Given the description of an element on the screen output the (x, y) to click on. 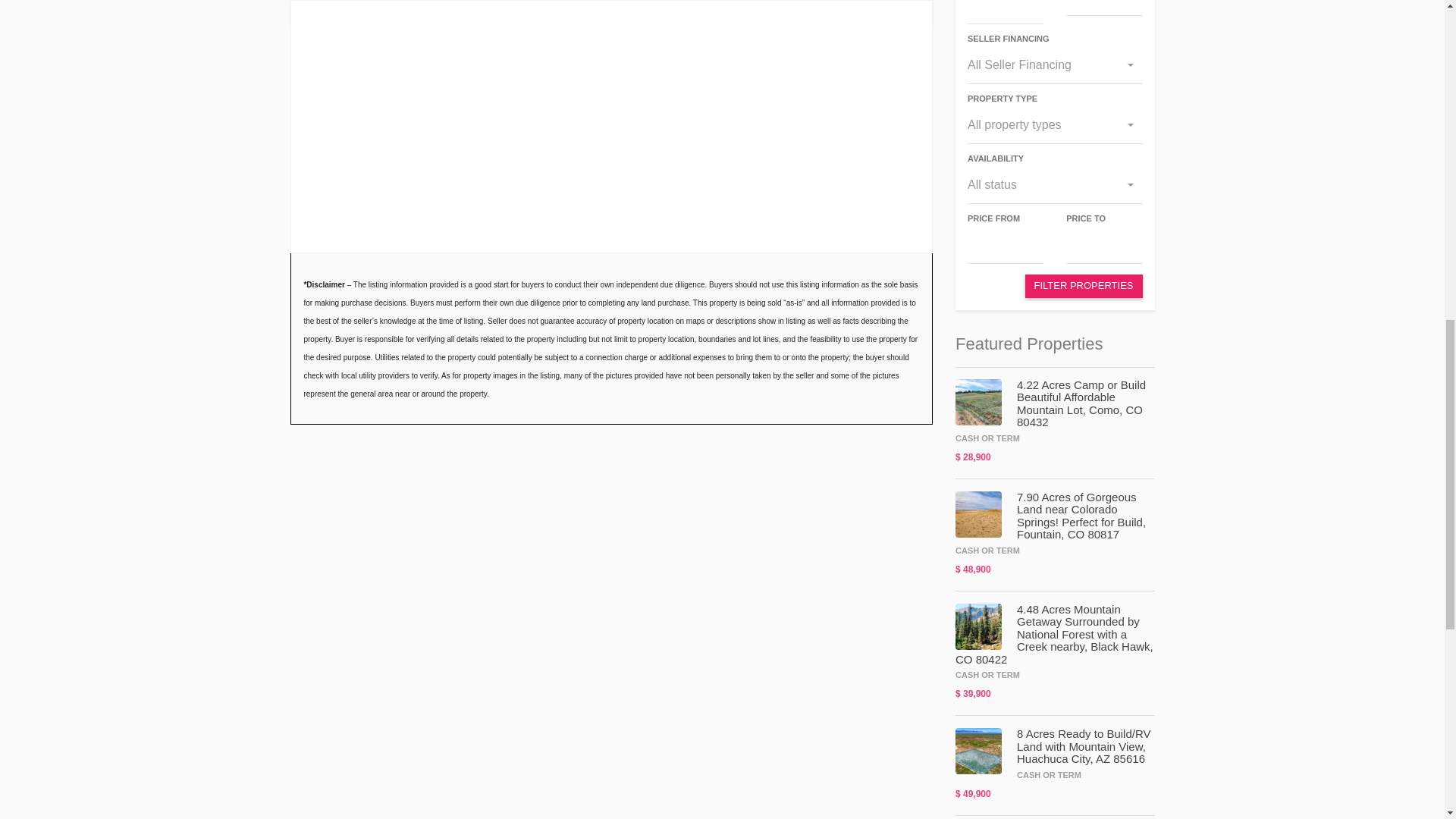
All Seller Financing (1055, 64)
All status (1055, 185)
All property types (1055, 125)
